Given the description of an element on the screen output the (x, y) to click on. 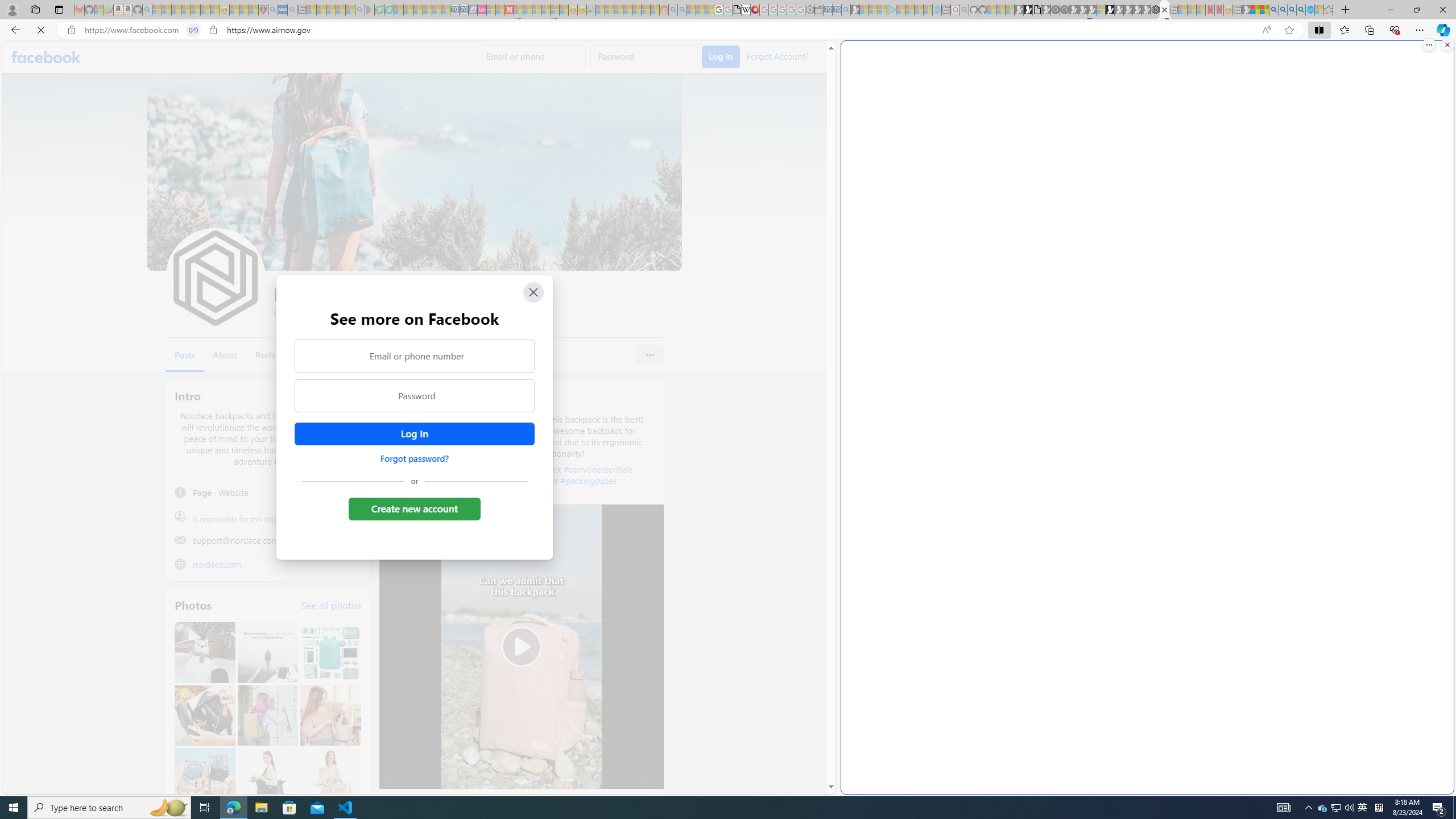
14 Common Myths Debunked By Scientific Facts - Sleeping (527, 9)
Future Focus Report 2024 - Sleeping (1064, 9)
Expert Portfolios - Sleeping (627, 9)
Email or phone number (414, 355)
Accessible login button (414, 433)
Facebook (46, 56)
Microsoft account | Privacy - Sleeping (882, 9)
